Given the description of an element on the screen output the (x, y) to click on. 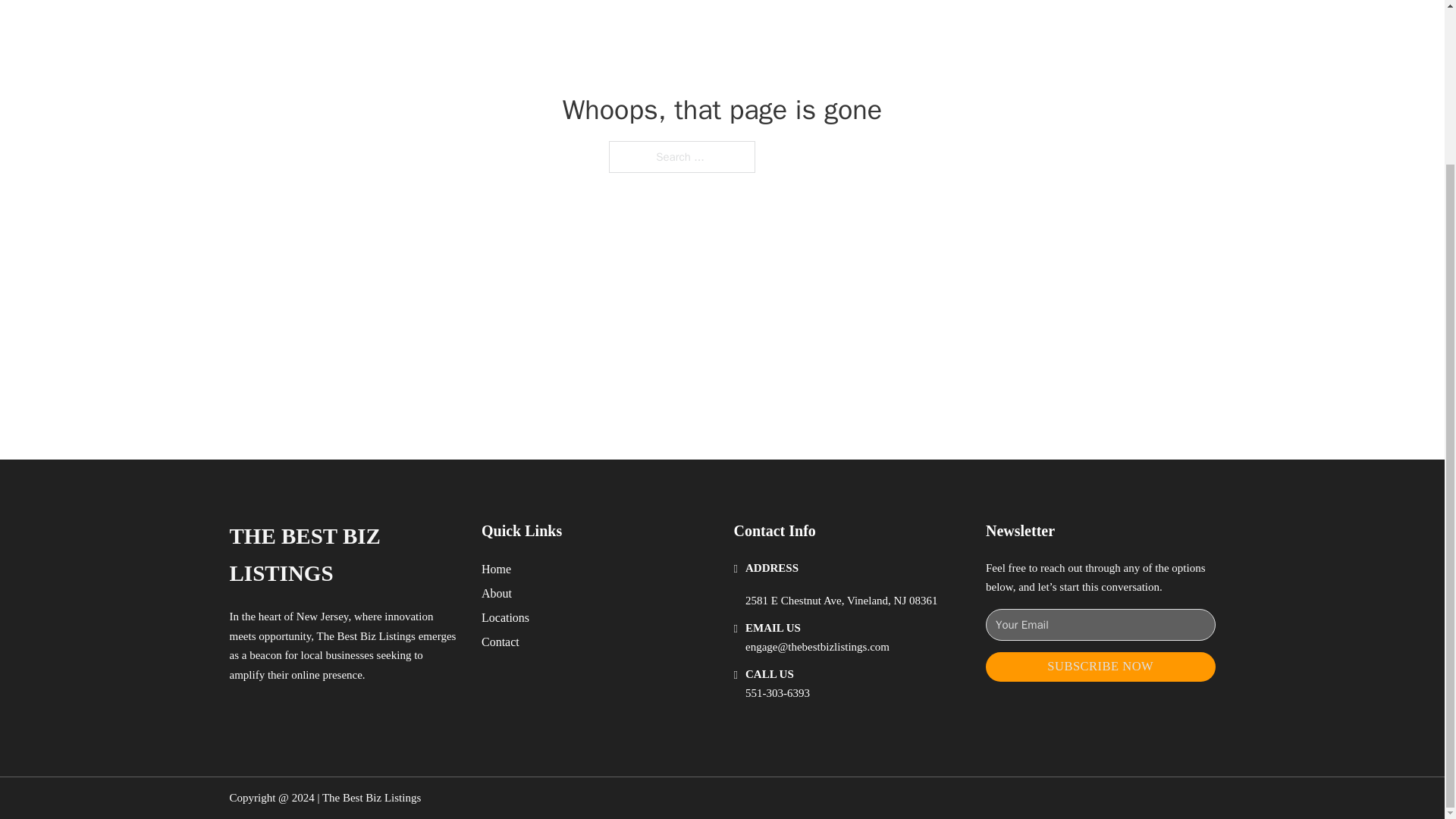
Home (496, 568)
Contact (500, 641)
551-303-6393 (777, 693)
About (496, 593)
SUBSCRIBE NOW (1100, 666)
THE BEST BIZ LISTINGS (343, 554)
Locations (505, 617)
